Given the description of an element on the screen output the (x, y) to click on. 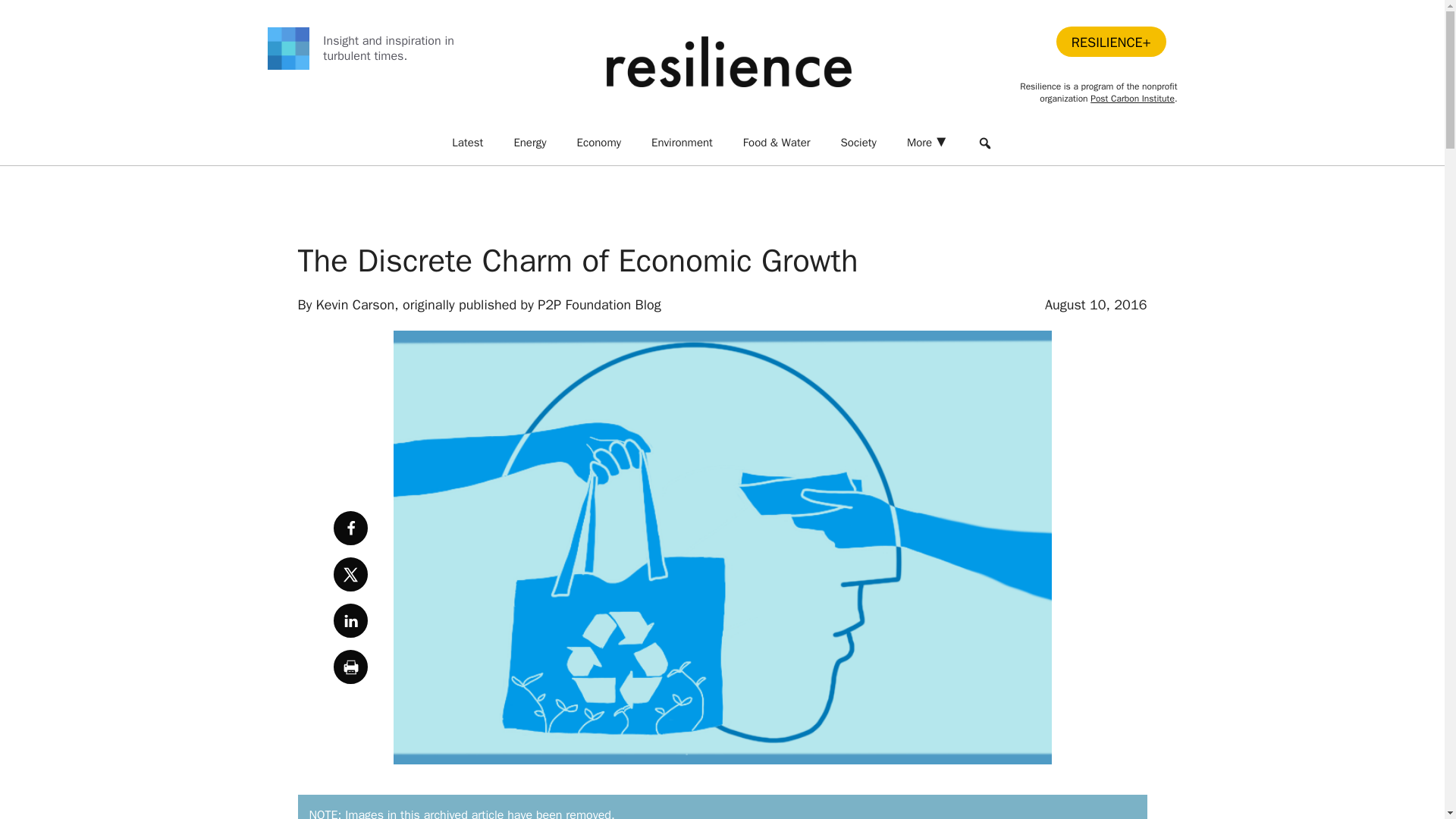
Share on X (350, 574)
Share on LinkedIn (350, 620)
Print this webpage (350, 666)
Share on Facebook (350, 528)
Post Carbon Institute (1132, 98)
